Given the description of an element on the screen output the (x, y) to click on. 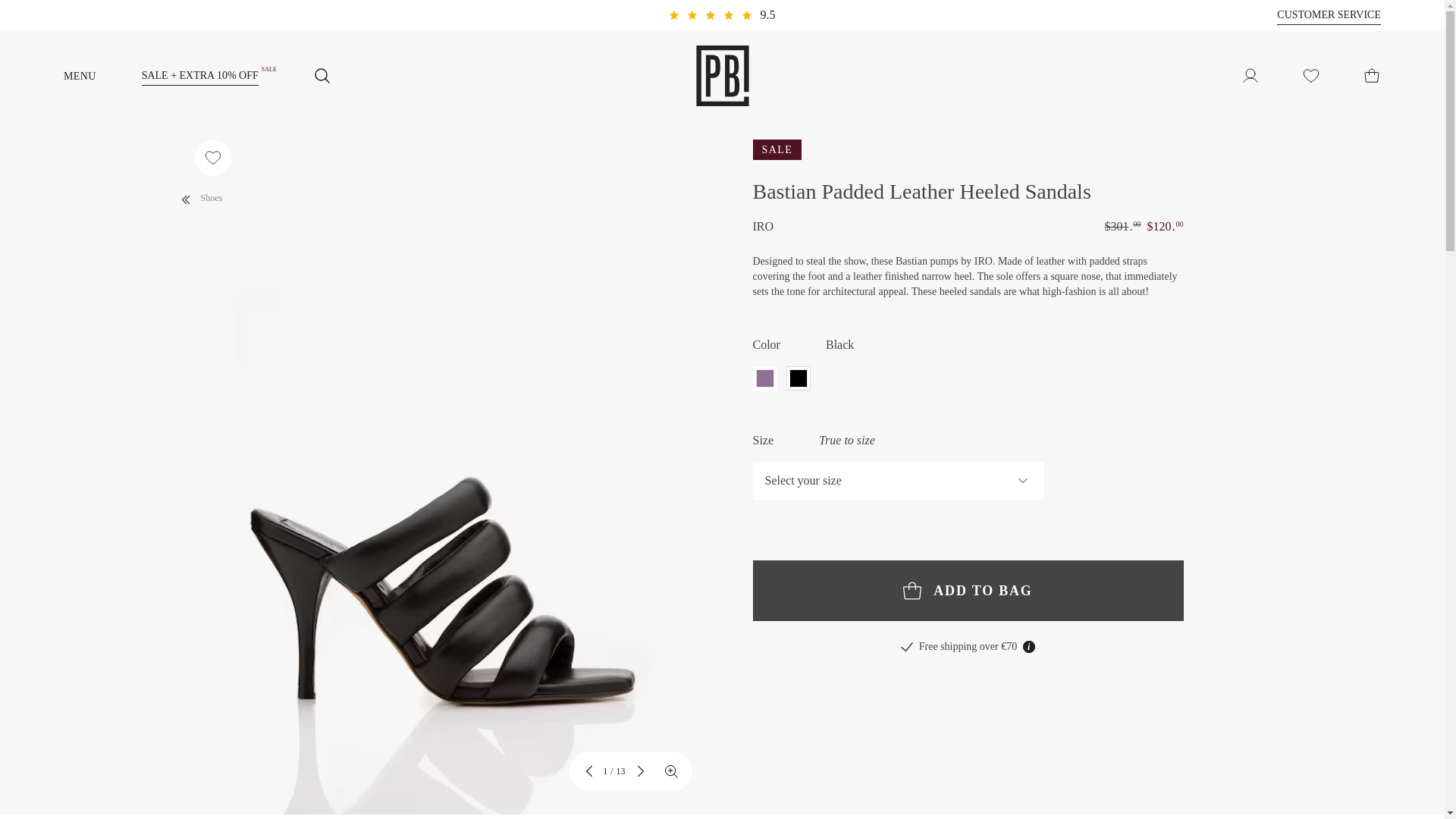
IRO (762, 226)
9.5 (721, 14)
Select your size (897, 480)
Shoes (199, 196)
i (1029, 646)
CUSTOMER SERVICE (1328, 14)
Black (797, 378)
ADD TO BAG (967, 590)
MENU (102, 74)
Paars (764, 378)
